Given the description of an element on the screen output the (x, y) to click on. 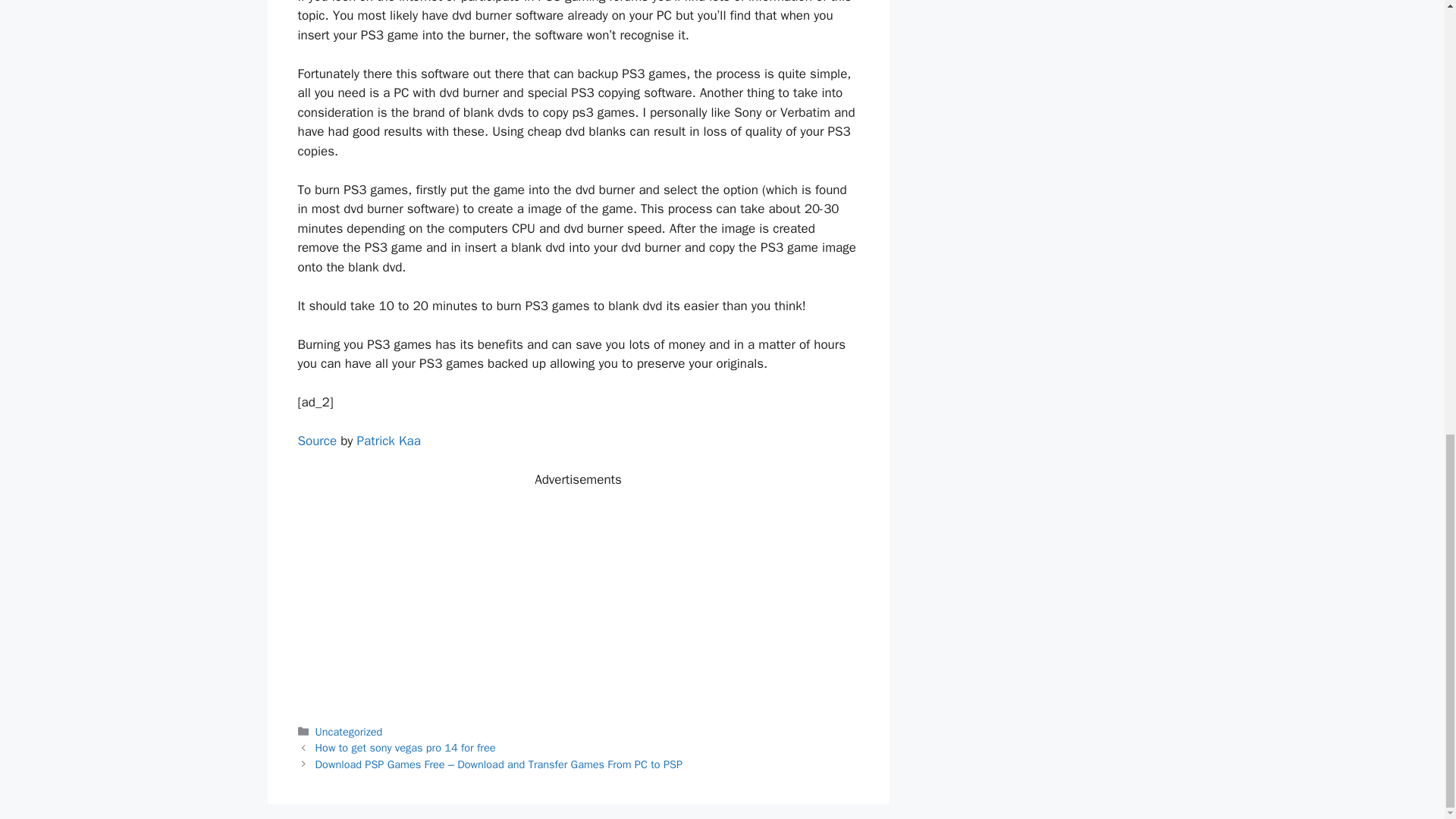
Patrick Kaa (388, 440)
How to get sony vegas pro 14 for free (405, 747)
Source (316, 440)
Advertisement (578, 595)
Uncategorized (348, 731)
